Given the description of an element on the screen output the (x, y) to click on. 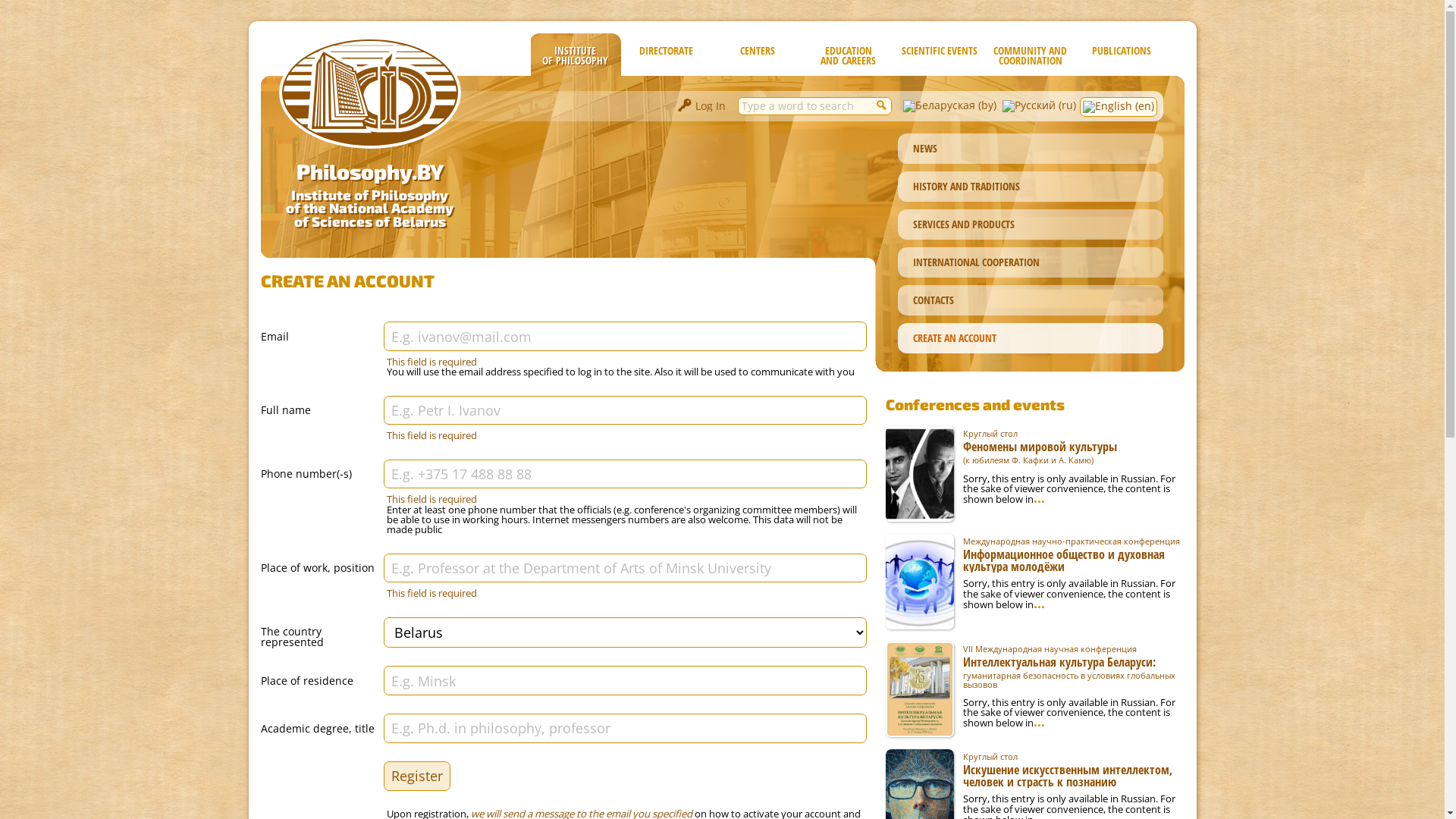
PUBLICATIONS Element type: text (1120, 54)
SCIENTIFIC EVENTS Element type: text (938, 54)
Conferences and events Element type: text (974, 404)
HISTORY AND TRADITIONS Element type: text (1030, 186)
NEWS Element type: text (1030, 148)
COMMUNITY AND COORDINATION Element type: text (1029, 54)
Log In Element type: text (701, 107)
English (en) Element type: hover (1117, 108)
Register Element type: text (416, 775)
CONTACTS Element type: text (1030, 300)
Philosophy.BY Element type: text (370, 171)
DIRECTORATE Element type: text (665, 54)
EDUCATION AND CAREERS Element type: text (847, 54)
SERVICES AND PRODUCTS Element type: text (1030, 224)
INTERNATIONAL COOPERATION Element type: text (1030, 262)
INSTITUTE OF PHILOSOPHY Element type: text (574, 54)
